Given the description of an element on the screen output the (x, y) to click on. 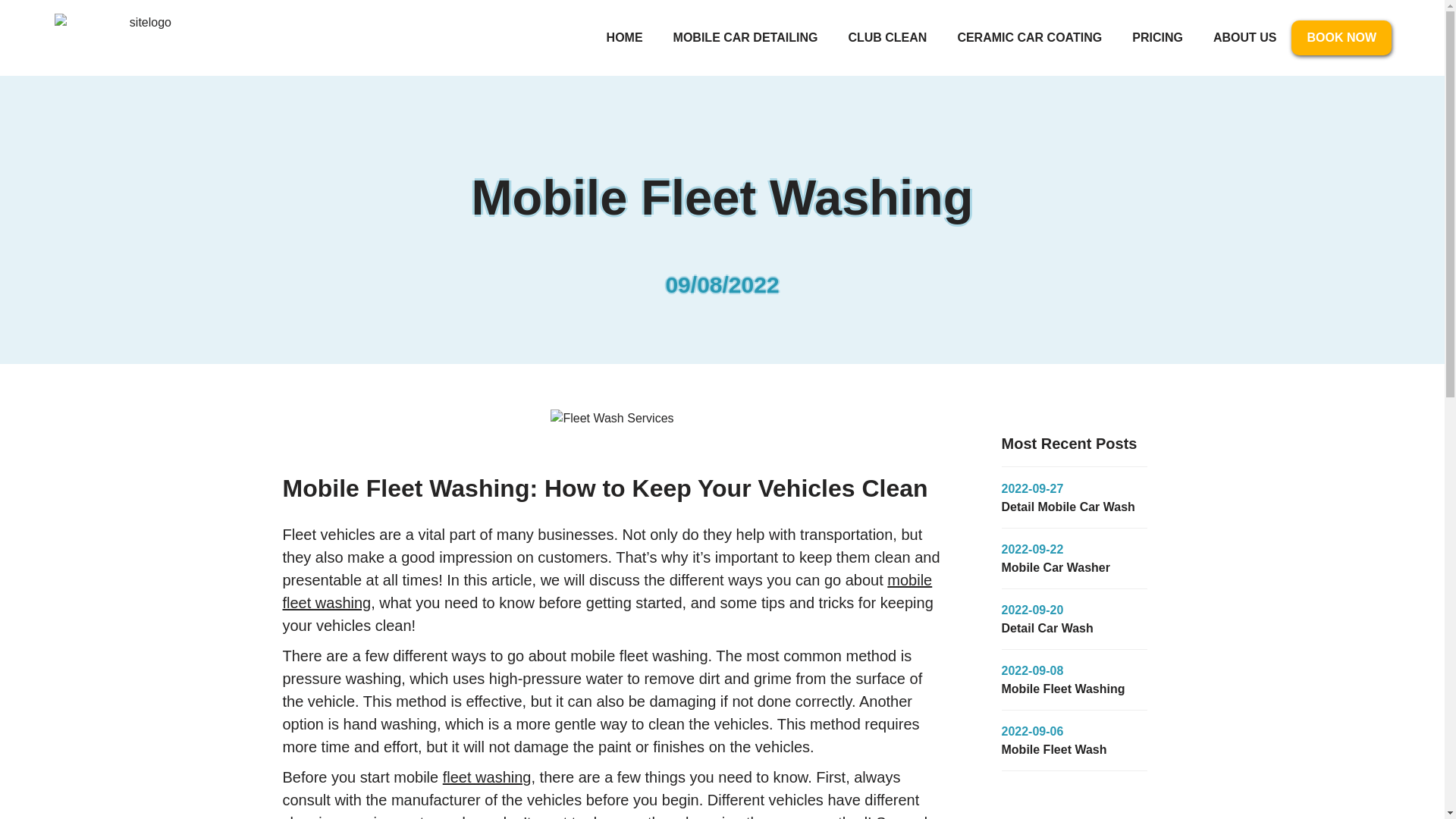
CLUB CLEAN (887, 37)
PRICING (1157, 37)
ABOUT US (1245, 37)
HOME (624, 37)
BOOK NOW (1341, 37)
CERAMIC CAR COATING (1029, 37)
MOBILE CAR DETAILING (745, 37)
